Given the description of an element on the screen output the (x, y) to click on. 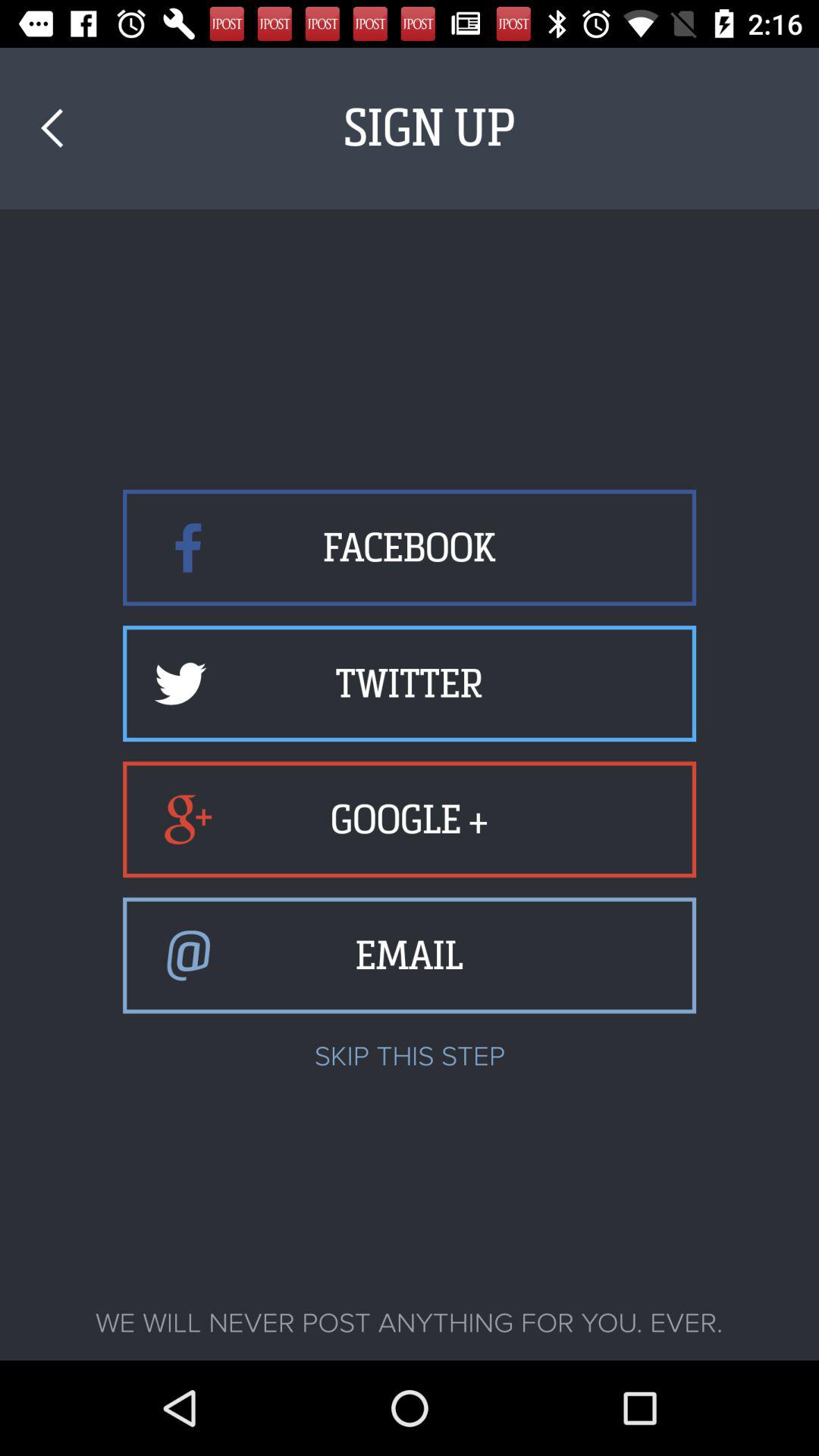
choose item next to sign up icon (51, 128)
